Given the description of an element on the screen output the (x, y) to click on. 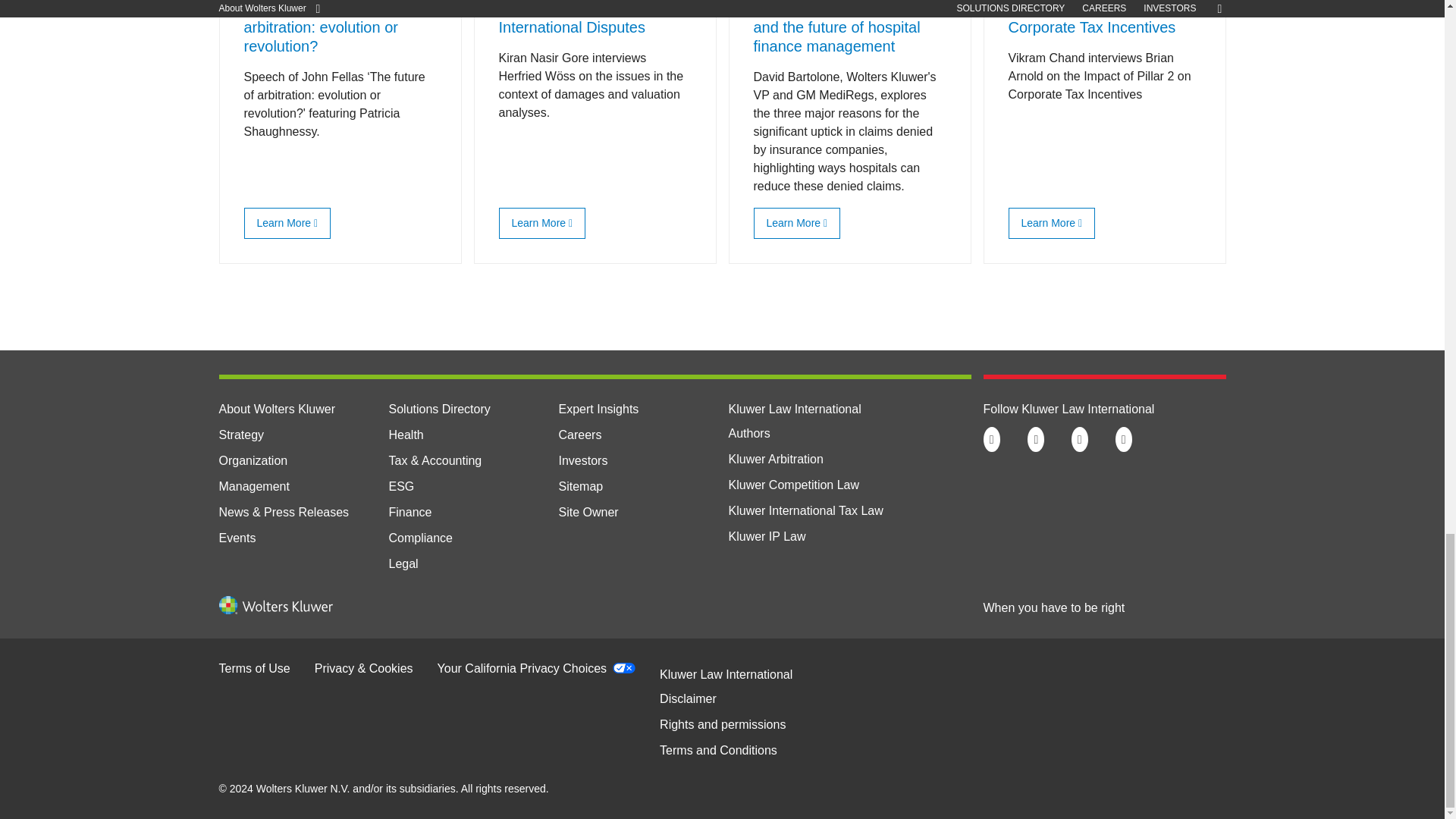
Newsroom (283, 512)
Site Owner (587, 512)
Authors (749, 432)
Impact of Pillar 2 on Corporate Tax Incentives  (1047, 223)
Podcast: Quantifying International Disputes (538, 223)
ESG (400, 486)
Kluwer Arbitration (775, 459)
